Given the description of an element on the screen output the (x, y) to click on. 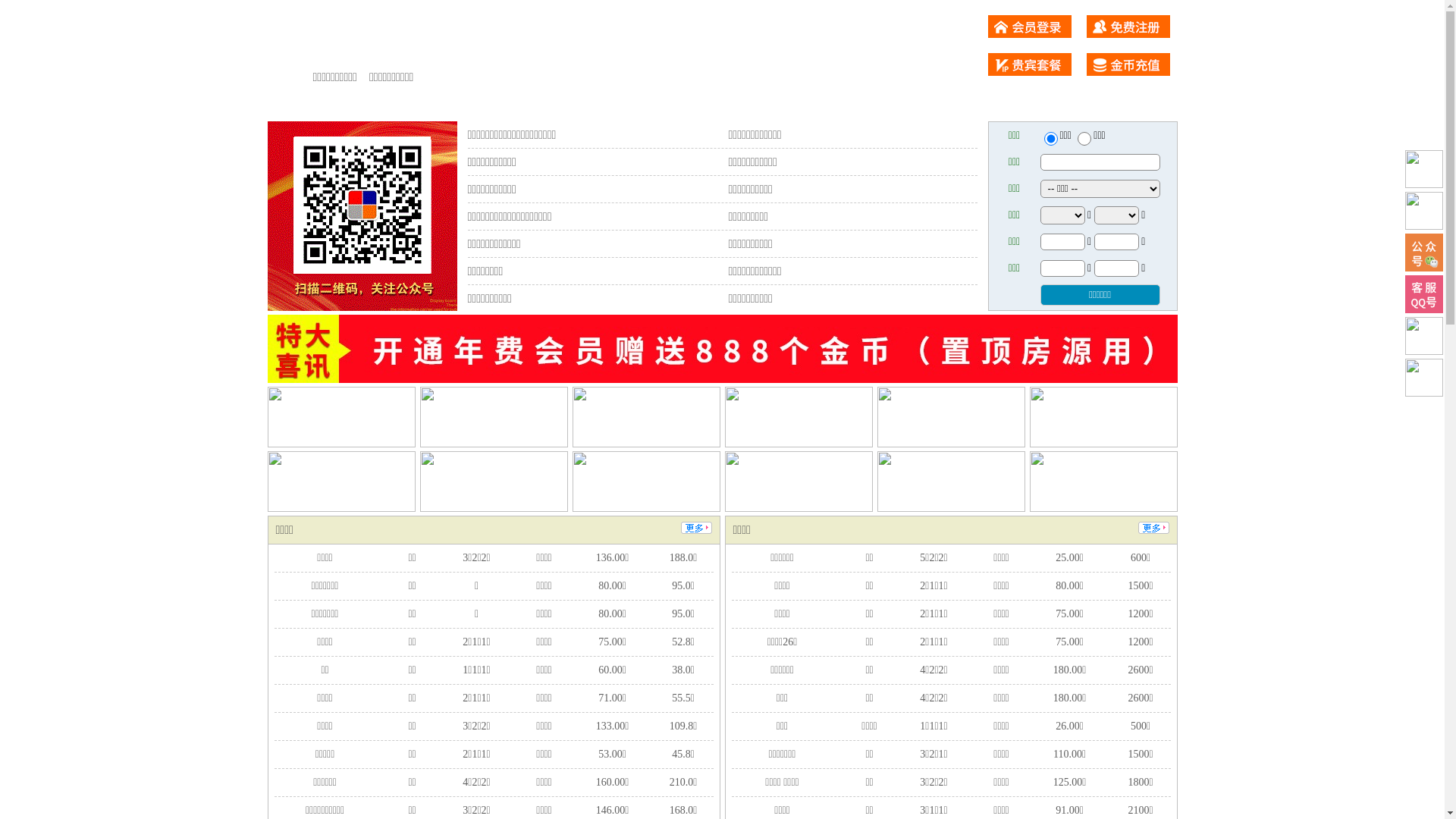
chuzu Element type: text (1084, 138)
ershou Element type: text (1050, 138)
